Given the description of an element on the screen output the (x, y) to click on. 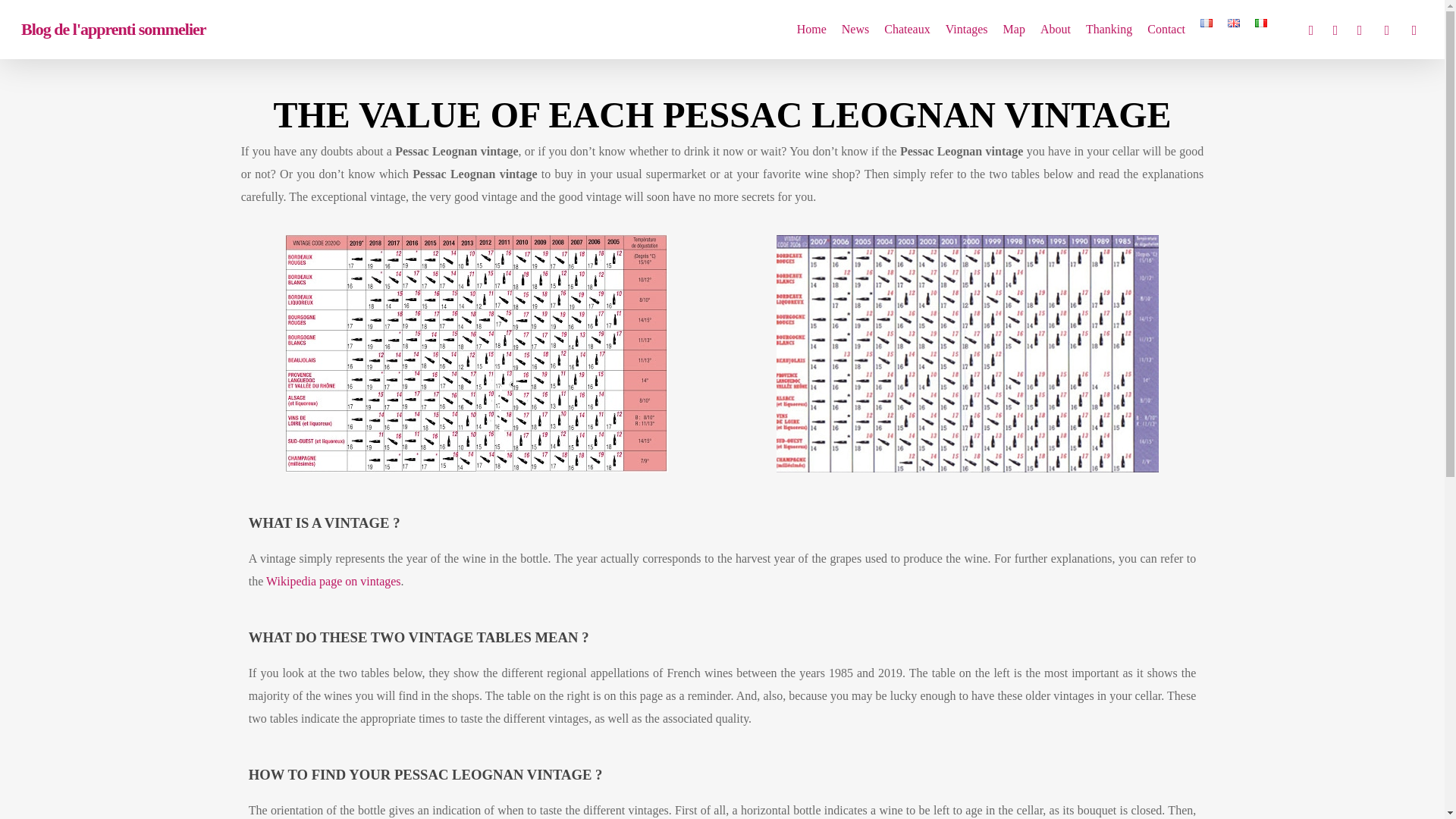
Home (811, 29)
About (1055, 29)
Blog de l'apprenti sommelier (113, 29)
Thanking (1109, 29)
instagram (1414, 29)
pinterest (1359, 29)
linkedin (1386, 29)
Contact (1166, 29)
Map (1013, 29)
News (855, 29)
